Given the description of an element on the screen output the (x, y) to click on. 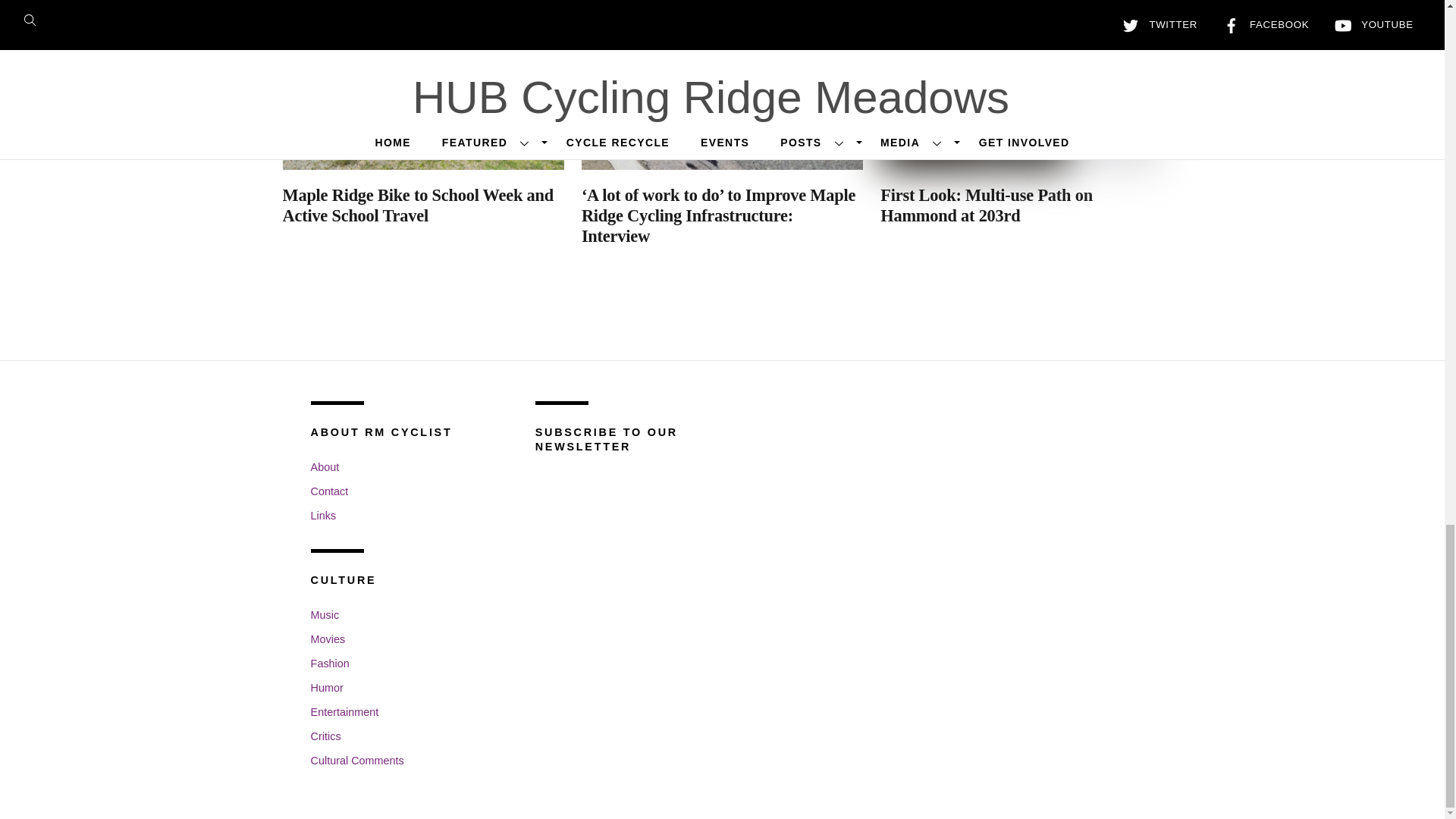
Maple Ridge Bike to School Week and Active School Travel (417, 205)
maple ridge news interview (721, 84)
Bike to school 2024 Albion Elementary (422, 84)
About (325, 467)
Hammond MUP 1-1 (1020, 84)
First Look: Multi-use Path on Hammond at 203rd (986, 205)
